Given the description of an element on the screen output the (x, y) to click on. 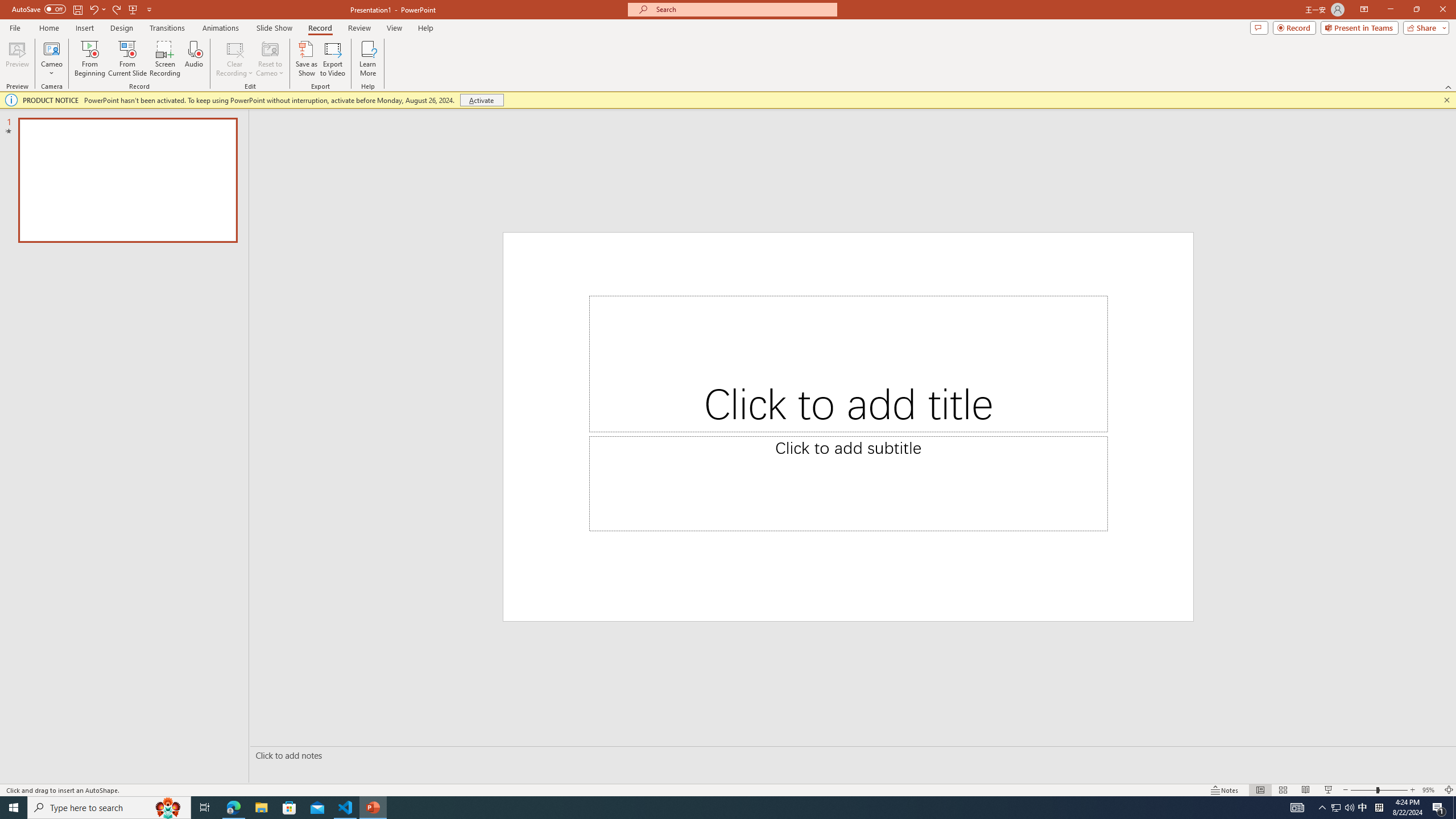
Activate (481, 100)
